Given the description of an element on the screen output the (x, y) to click on. 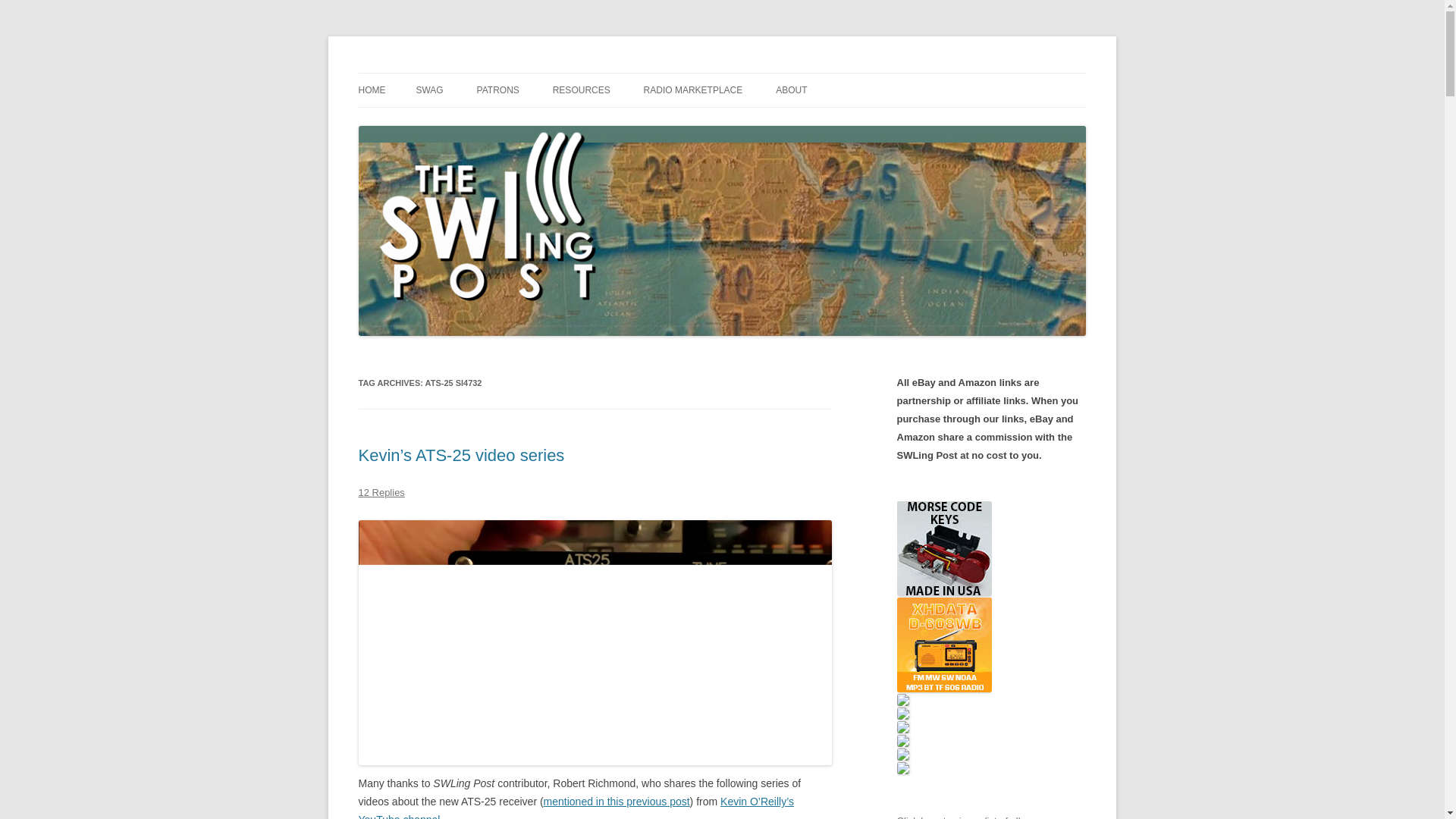
mentioned in this previous post (616, 801)
RADIO MARKETPLACE (692, 90)
12 Replies (381, 491)
ABOUT (791, 90)
LIST OF QRP GENERAL COVERAGE AMATEUR RADIO TRANSCEIVERS (718, 140)
PATRONS (498, 90)
The SWLing Post (438, 72)
HOME (371, 90)
OUR SPONSORS (552, 122)
SWAG (428, 90)
RESOURCES (581, 90)
